Given the description of an element on the screen output the (x, y) to click on. 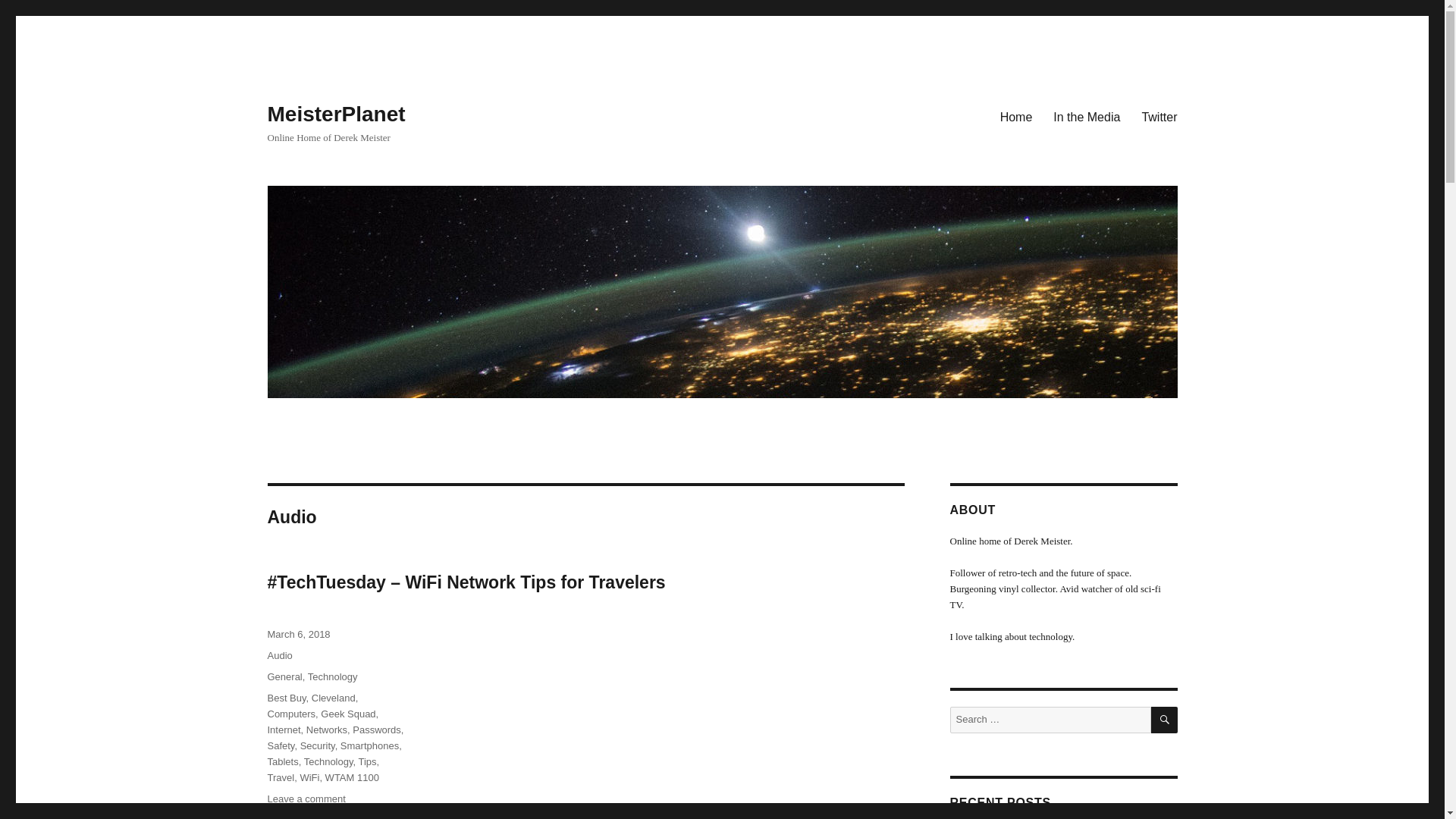
Passwords (376, 729)
Networks (326, 729)
Best Buy (285, 697)
Tips (367, 761)
Smartphones (369, 745)
Twitter (1159, 116)
WiFi (308, 777)
WTAM 1100 (351, 777)
General (283, 676)
Audio (279, 655)
